Given the description of an element on the screen output the (x, y) to click on. 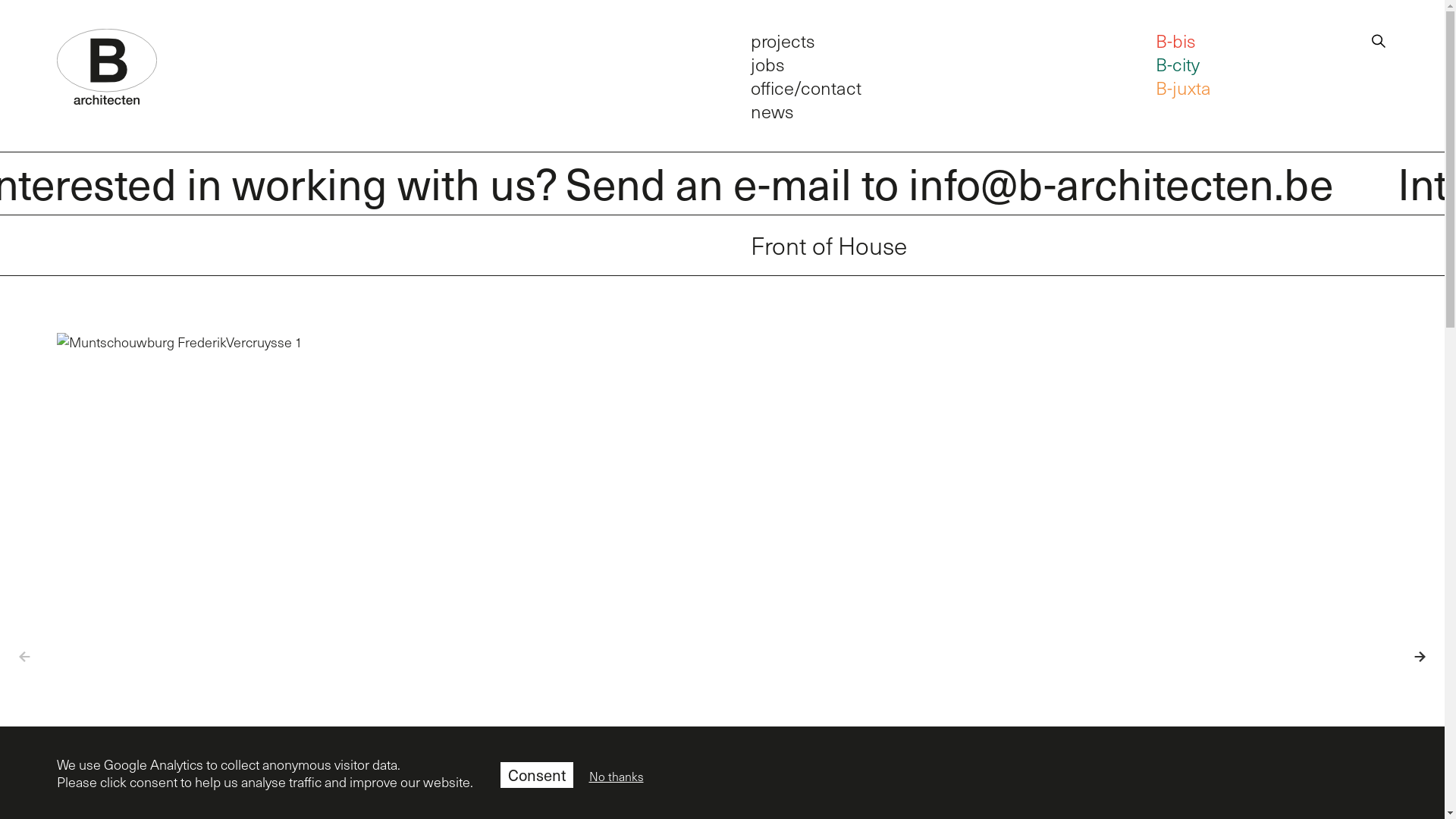
B-city Element type: text (1177, 63)
jobs Element type: text (767, 63)
Consent Element type: text (536, 774)
office/contact Element type: text (805, 86)
projects Element type: text (782, 39)
news Element type: text (771, 110)
B-bis Element type: text (1175, 39)
search Element type: text (1378, 37)
No thanks Element type: text (615, 776)
B-juxta Element type: text (1183, 86)
